Given the description of an element on the screen output the (x, y) to click on. 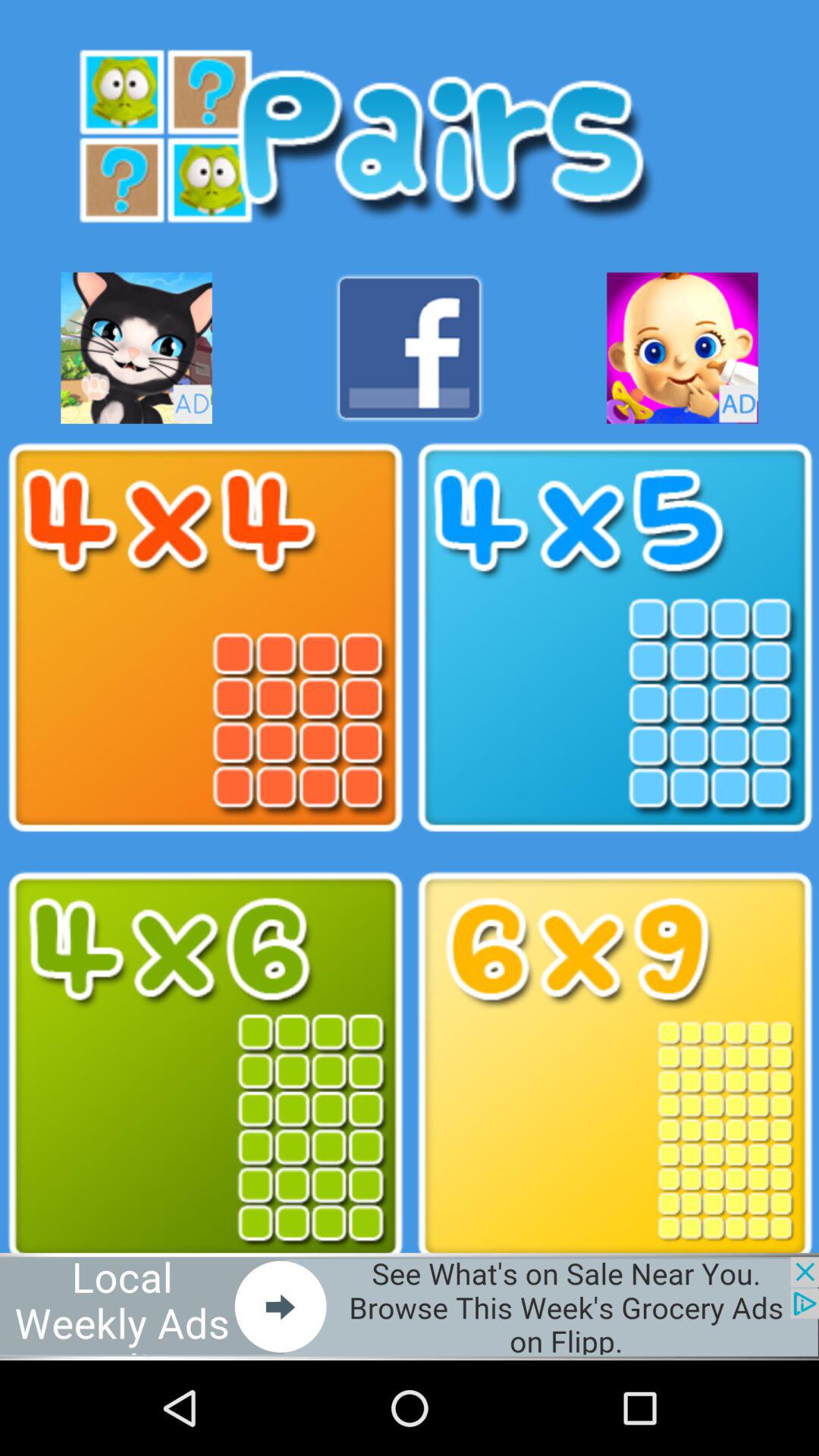
face book app (409, 347)
